Given the description of an element on the screen output the (x, y) to click on. 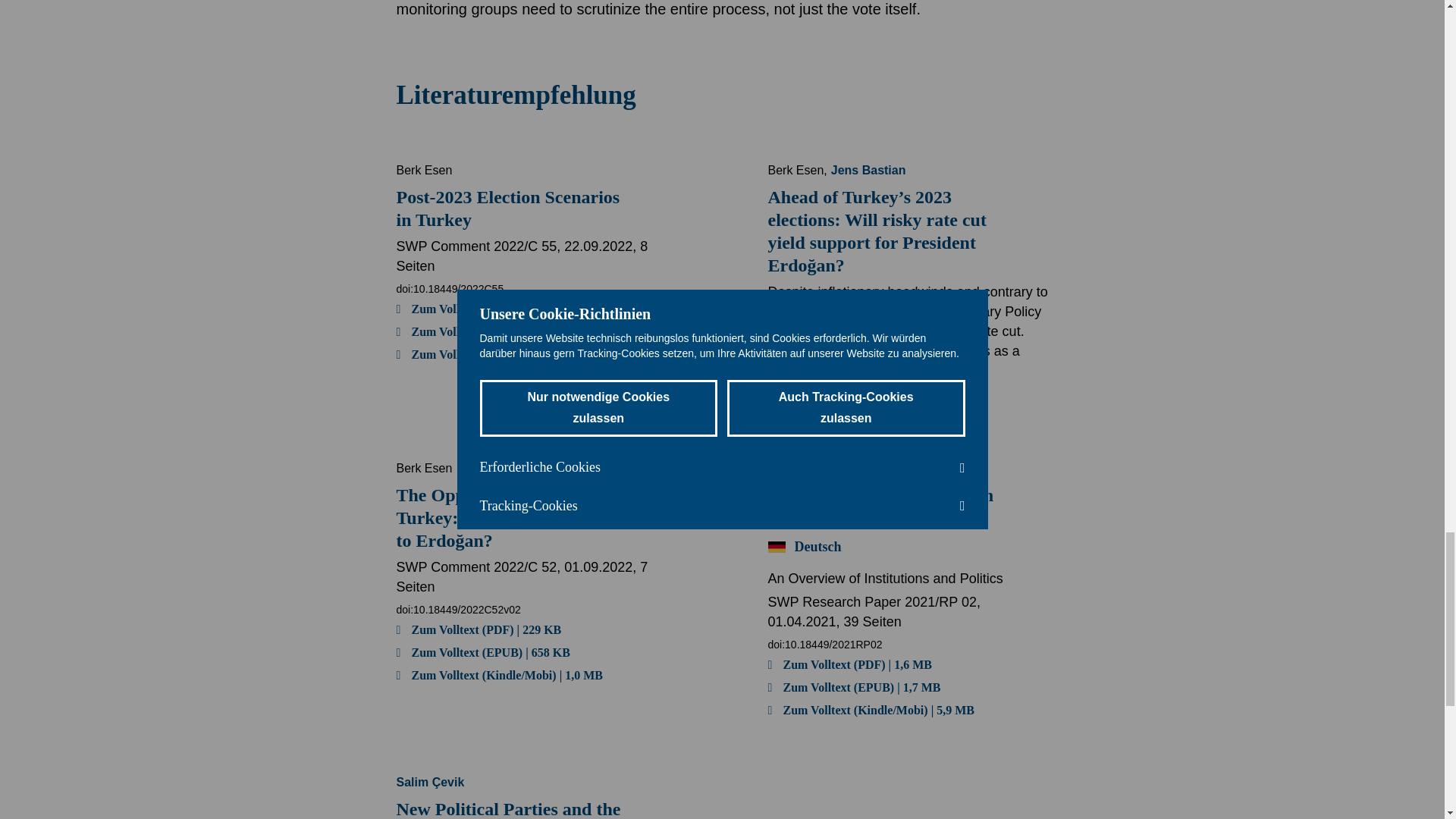
PDF-Datei; kann u.a. im Adobe Acrobat Reader gelesen werden (849, 663)
PDF-Datei; kann u.a. im Adobe Acrobat Reader gelesen werden (477, 309)
PDF-Datei; kann u.a. im Adobe Acrobat Reader gelesen werden (478, 629)
